Given the description of an element on the screen output the (x, y) to click on. 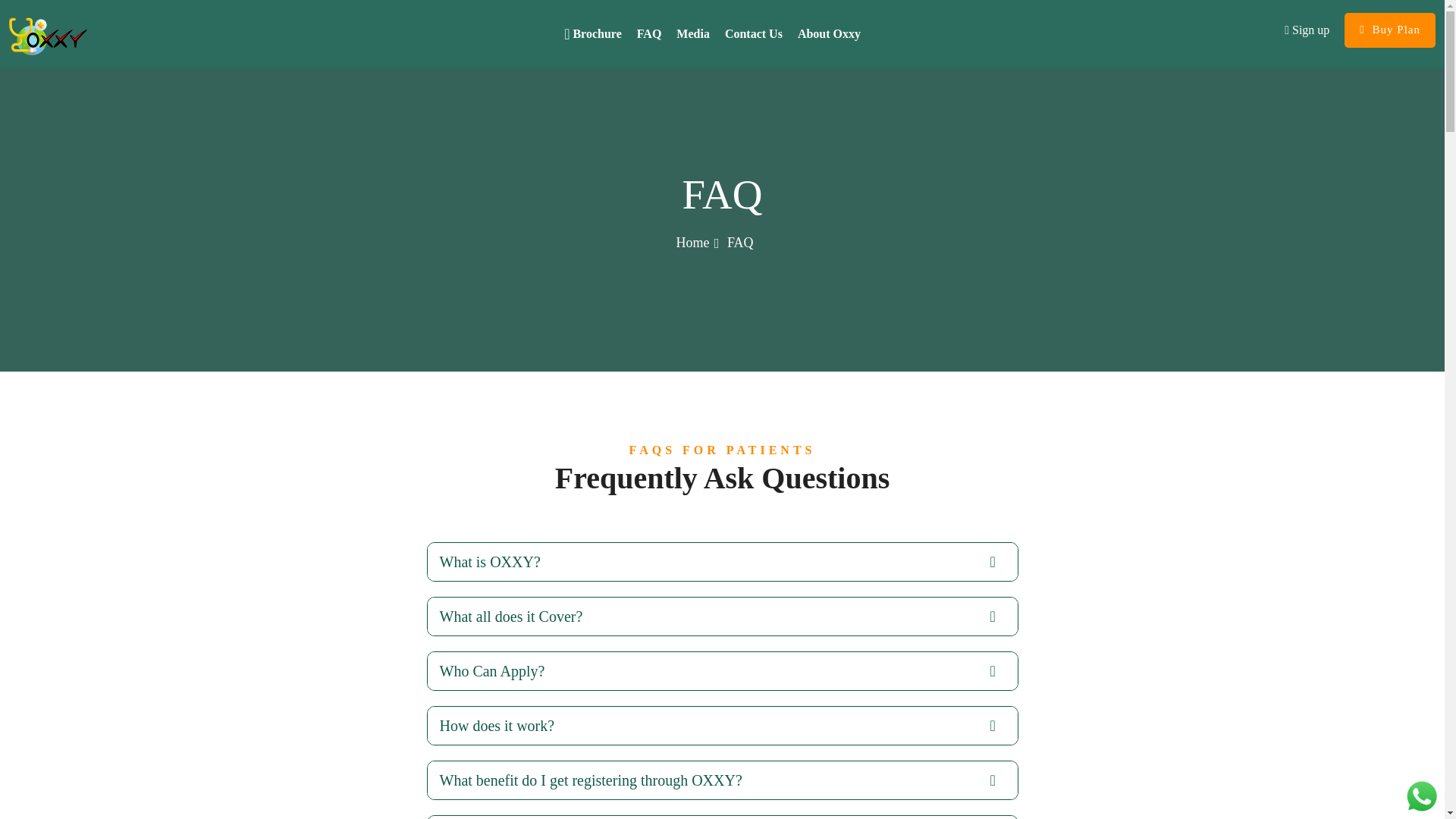
Buy Plan (1389, 30)
What benefit do I get registering through OXXY? (722, 780)
How does it work? (722, 725)
About Oxxy (828, 33)
Brochure (591, 33)
Home (692, 242)
What all does it Cover? (722, 616)
FAQ (648, 33)
Sign up (1306, 29)
